Given the description of an element on the screen output the (x, y) to click on. 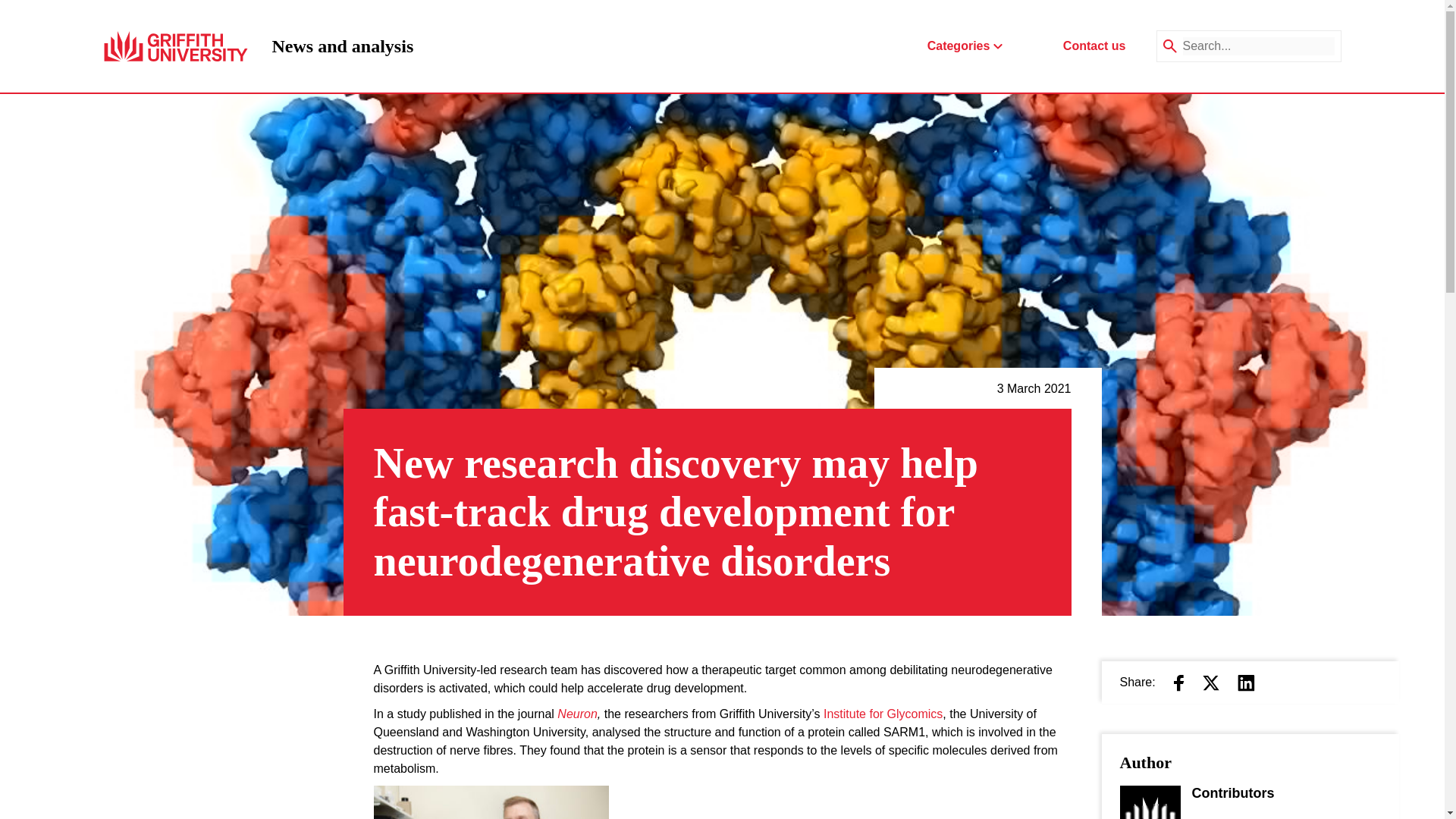
Institute for Glycomics (883, 714)
Neuron (341, 46)
Contact us (576, 714)
